Given the description of an element on the screen output the (x, y) to click on. 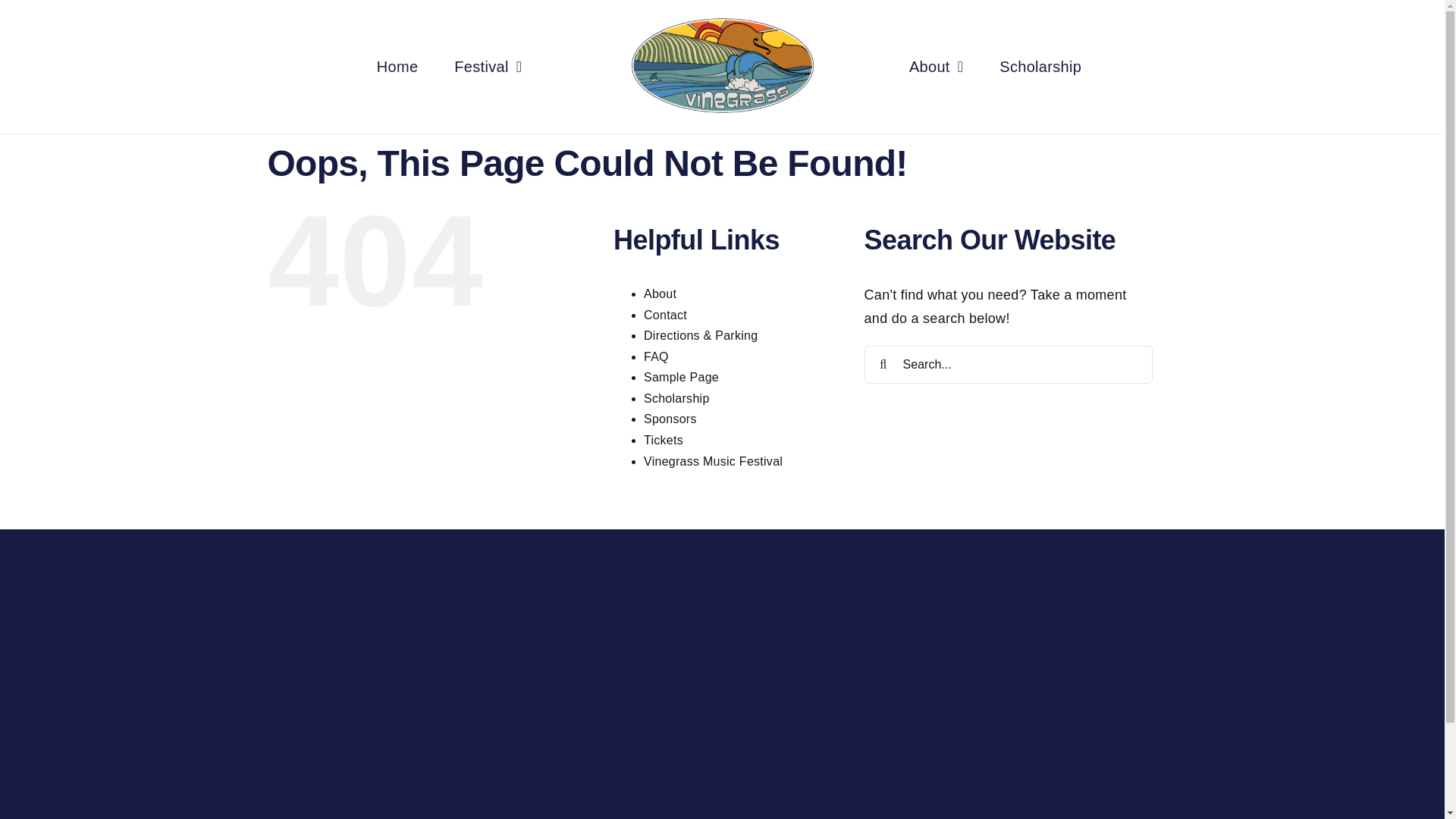
Scholarship (1040, 66)
About (936, 66)
Festival (487, 66)
Home (397, 66)
